Given the description of an element on the screen output the (x, y) to click on. 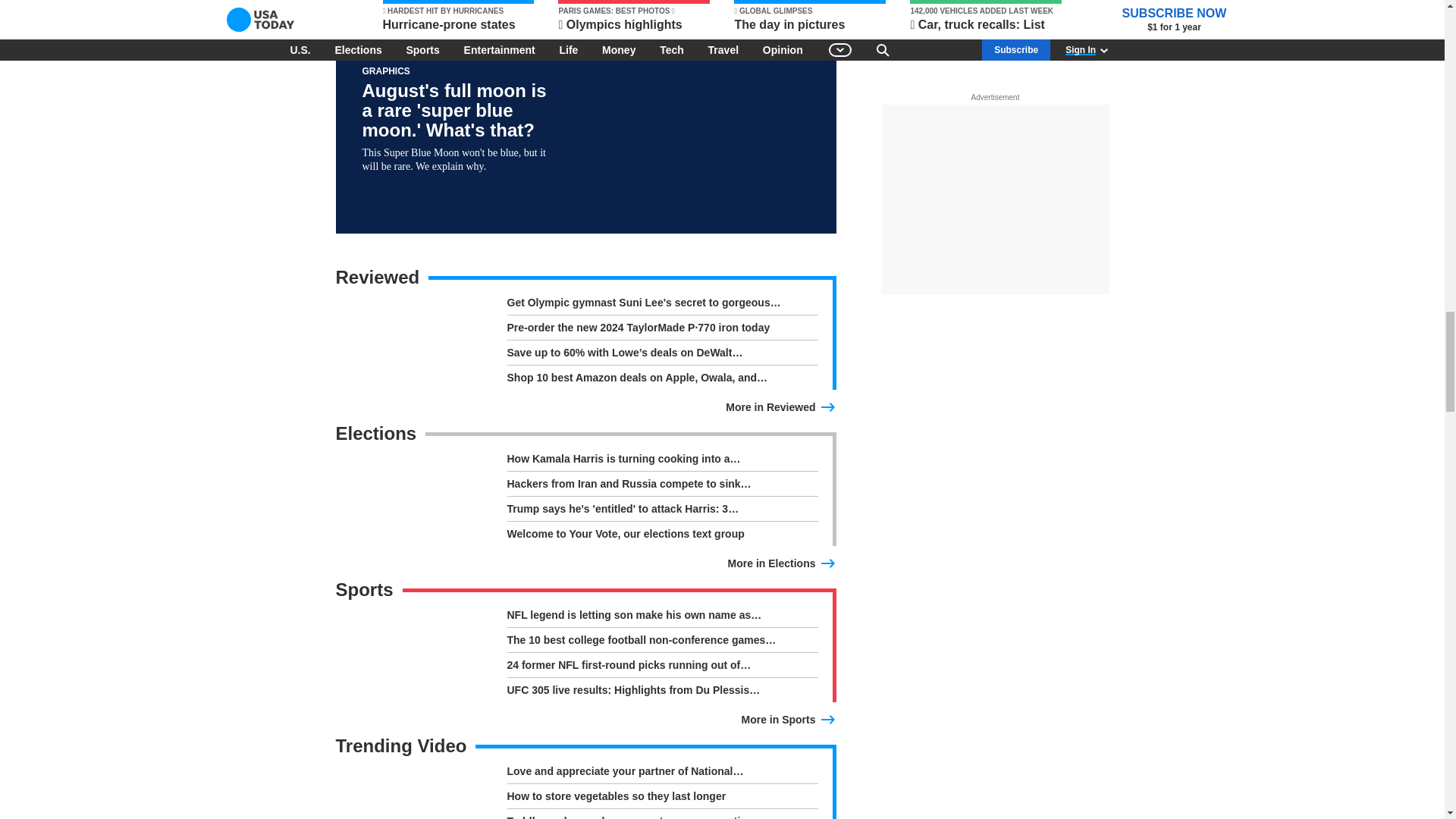
Shop 10 best Amazon deals on Apple, Owala, and DeWalt (661, 377)
How Kamala Harris is turning cooking into a political tool (661, 461)
